Given the description of an element on the screen output the (x, y) to click on. 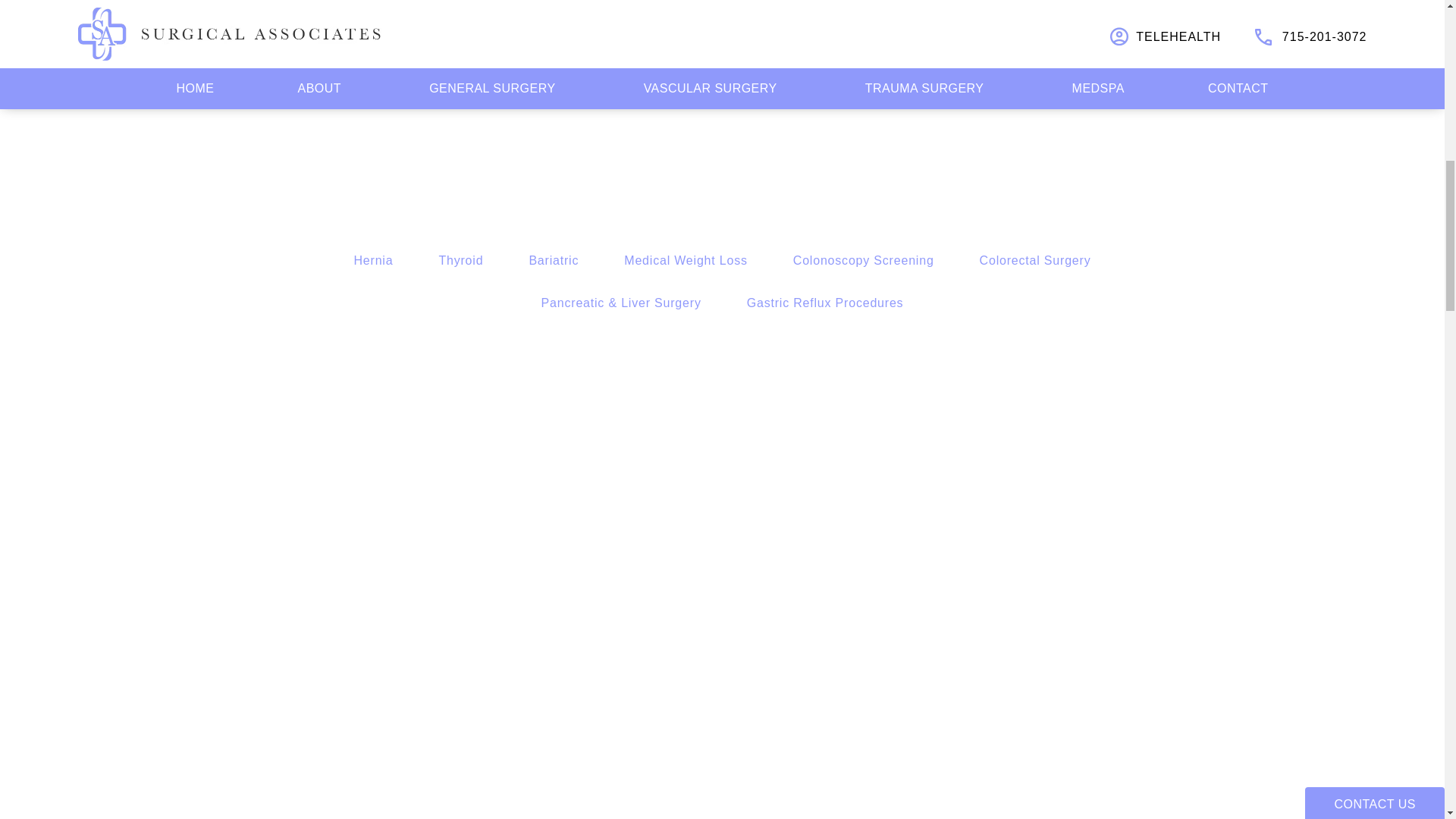
Opens Colorectal Surgery page (1034, 260)
Opens Colonoscopy Screening page (863, 260)
Opens Gastric Reflux Procedures page (825, 302)
Opens Medical Weight Loss page (686, 260)
Opens Bariatric page (553, 260)
Opens Thyroid page (460, 260)
Opens Hernia page (373, 260)
